Given the description of an element on the screen output the (x, y) to click on. 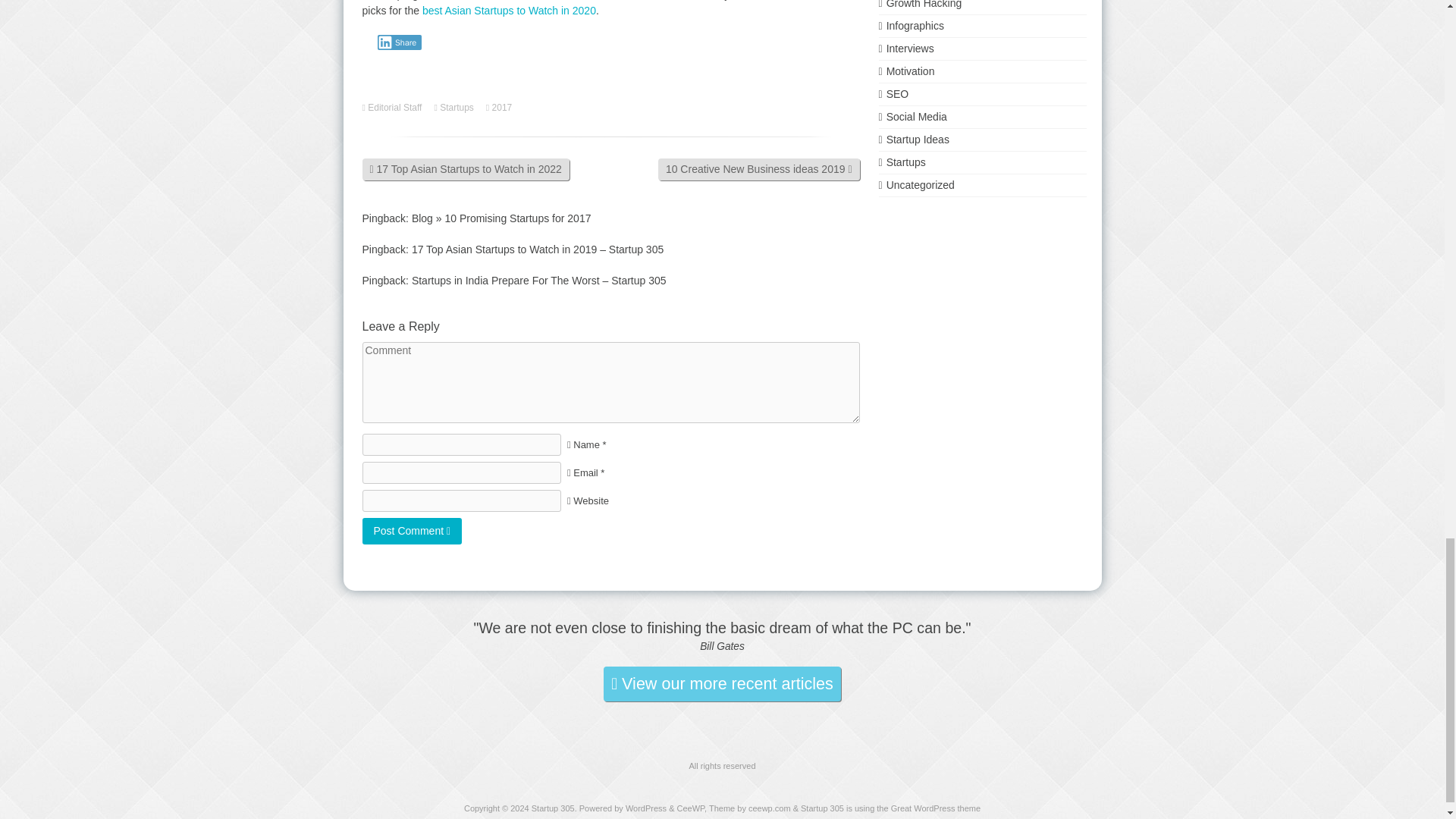
Startup 305 (553, 808)
10 Creative New Business ideas 2019 (759, 169)
2017 (503, 107)
Editorial Staff (396, 107)
best Asian Startups to Watch in 2020 (508, 10)
Post Comment (412, 530)
Share (399, 42)
Startups (458, 107)
17 Top Asian Startups to Watch in 2022 (465, 169)
